Given the description of an element on the screen output the (x, y) to click on. 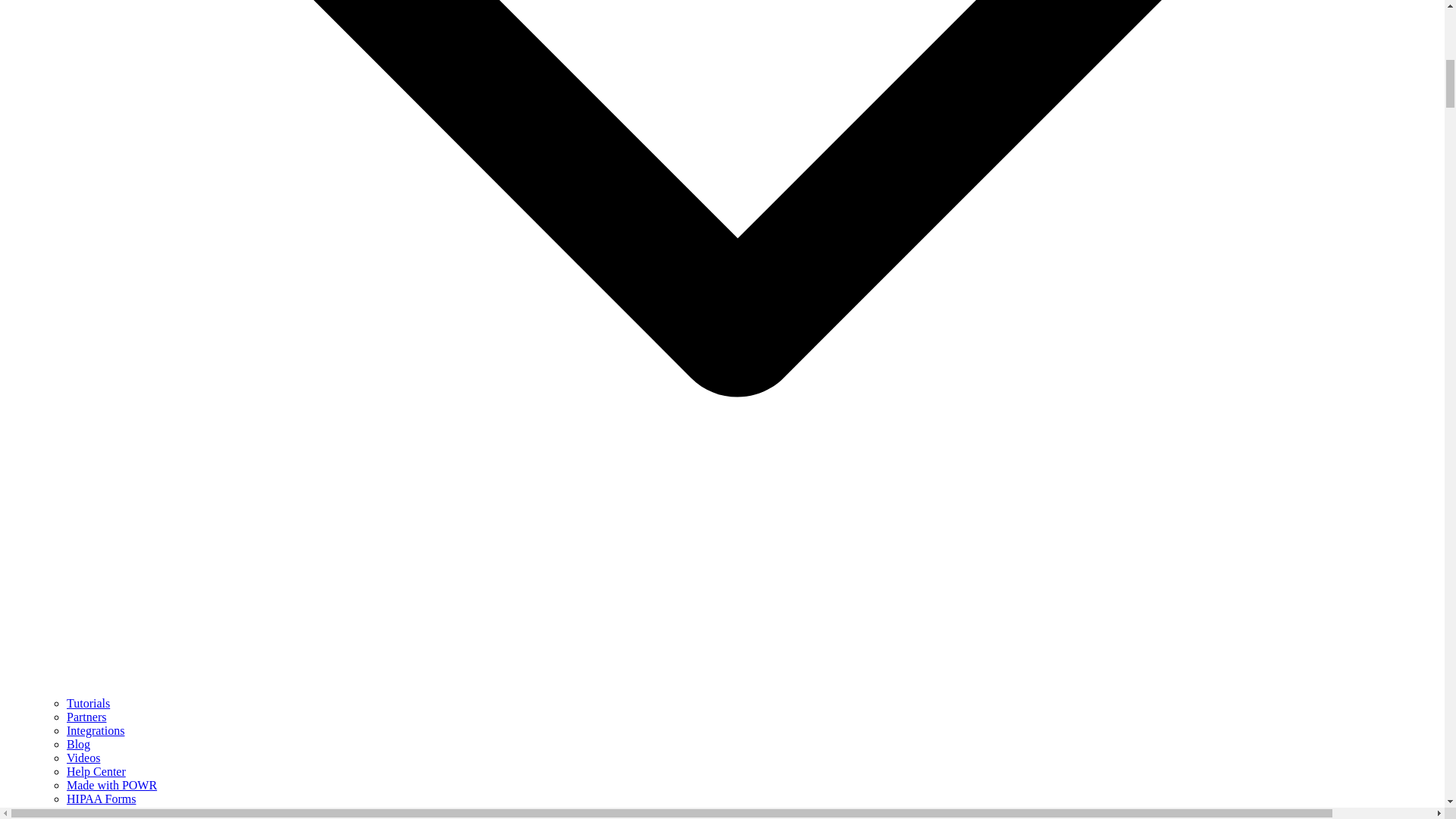
Made with POWR (111, 784)
Help Center (95, 771)
Videos (83, 757)
Sign Up FREE (72, 812)
Integrations (94, 730)
Tutorials (88, 703)
Partners (86, 716)
Blog (78, 744)
HIPAA Forms (100, 798)
